Given the description of an element on the screen output the (x, y) to click on. 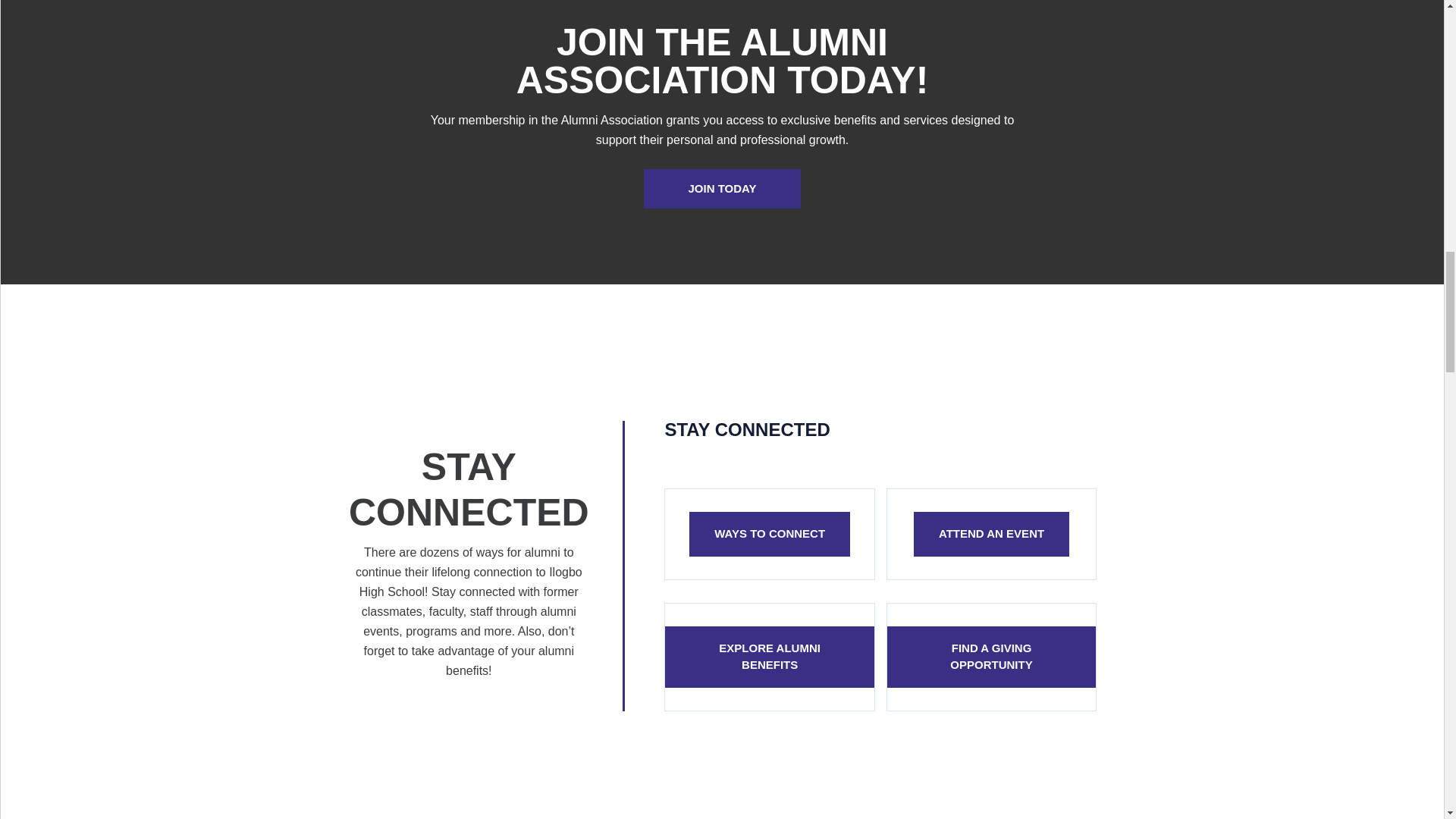
ATTEND AN EVENT (991, 533)
FIND A GIVING OPPORTUNITY (991, 656)
ATTEND AN EVENT (991, 533)
FIND A GIVING OPPORTUNITY (991, 656)
JOIN TODAY (721, 188)
WAYS TO CONNECT (769, 533)
WAYS TO CONNECT (769, 533)
EXPLORE ALUMNI BENEFITS (769, 656)
JOIN TODAY (721, 188)
EXPLORE ALUMNI BENEFITS (769, 656)
